Given the description of an element on the screen output the (x, y) to click on. 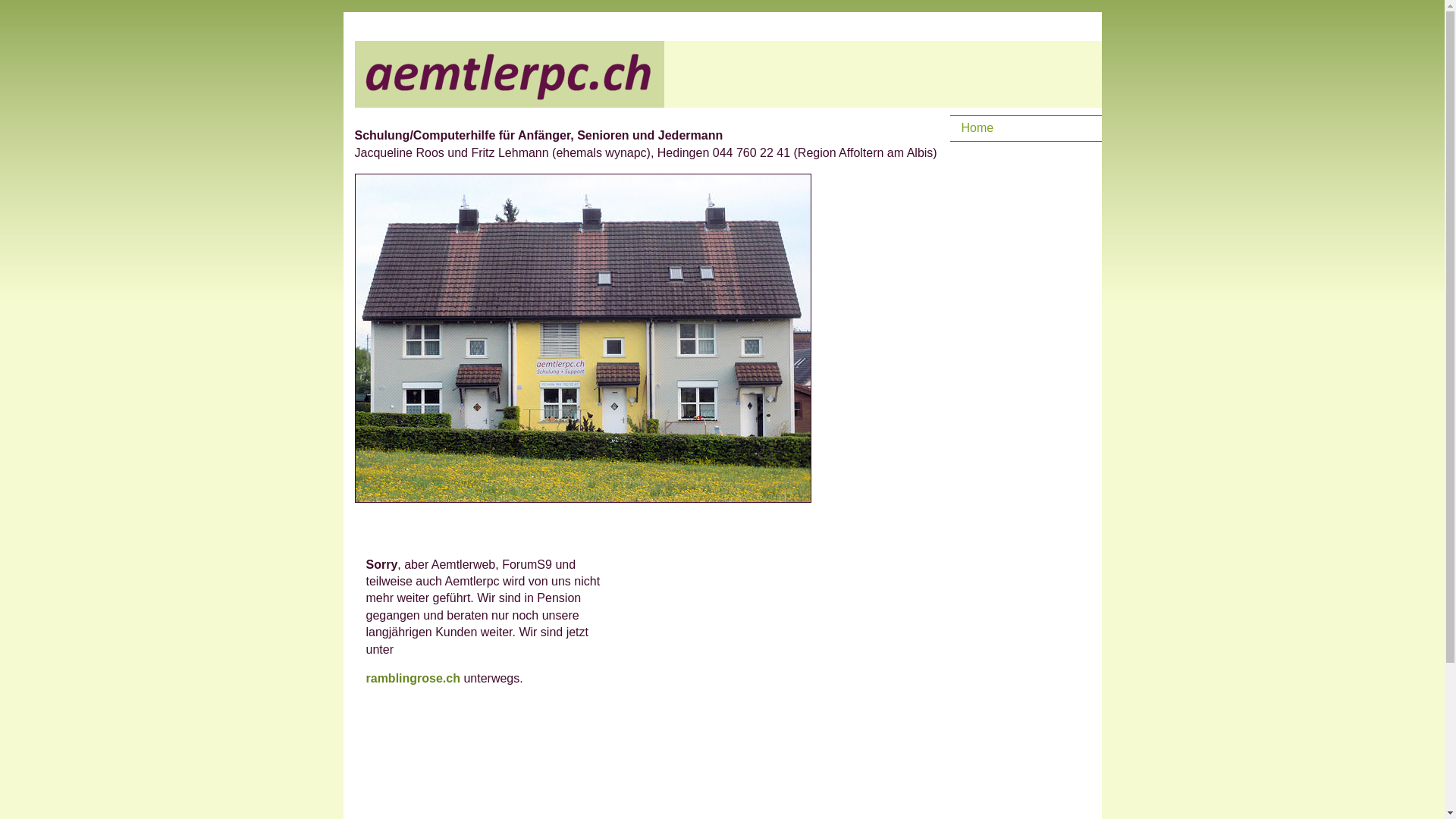
ramblingrose.ch Element type: text (414, 677)
Home Element type: text (1017, 128)
